Given the description of an element on the screen output the (x, y) to click on. 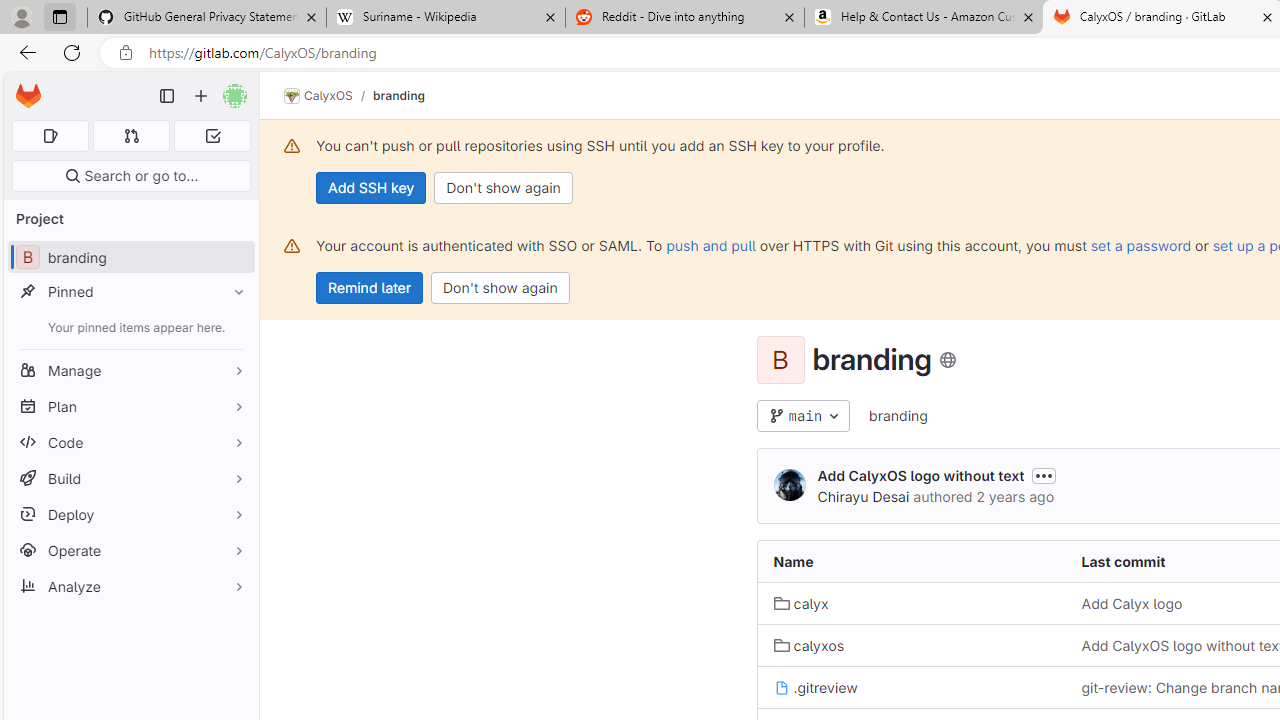
Merge requests 0 (131, 136)
Class: s16 icon (947, 359)
